Given the description of an element on the screen output the (x, y) to click on. 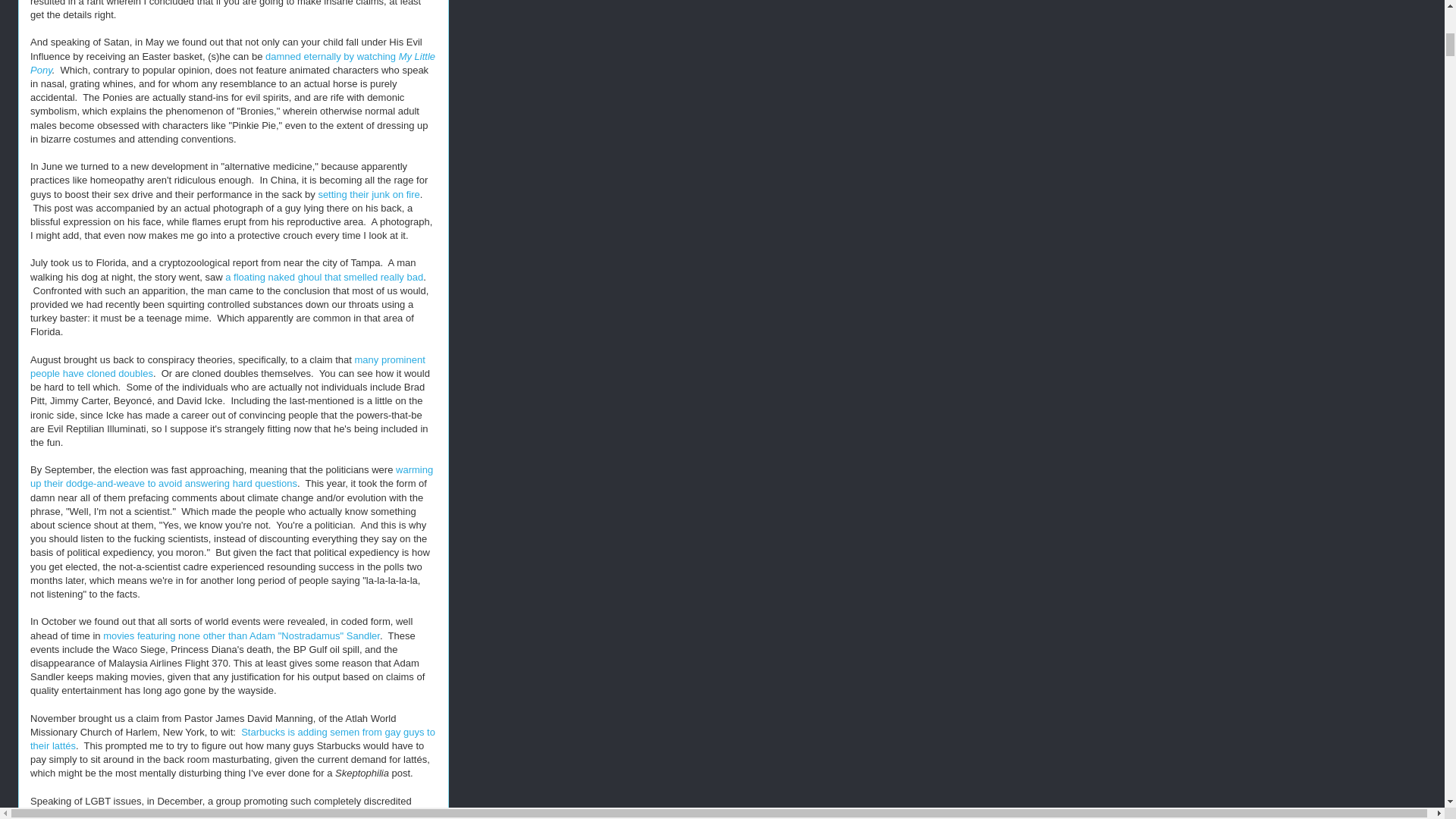
setting their junk on fire (368, 194)
movies featuring none other than Adam "Nostradamus" Sandler (241, 635)
put up a billboard in Virginia (205, 814)
My Little Pony (232, 63)
many prominent people have cloned doubles (227, 366)
damned eternally by watching (331, 56)
a floating naked ghoul that smelled really bad (324, 276)
